Given the description of an element on the screen output the (x, y) to click on. 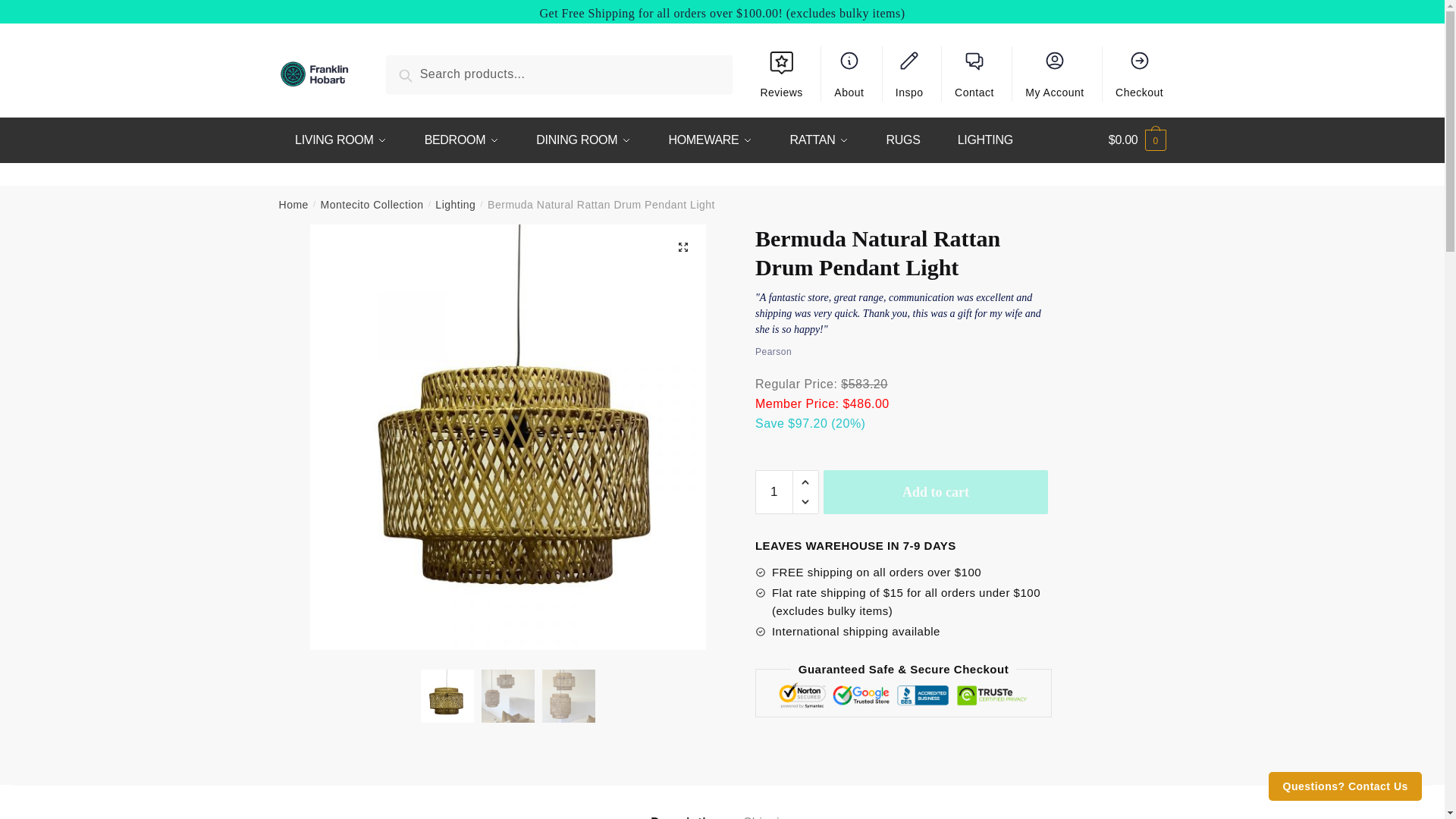
Reviews (781, 79)
HOMEWARE (710, 139)
DINING ROOM (583, 139)
LIVING ROOM (341, 139)
View your shopping cart (1137, 139)
BEDROOM (461, 139)
Search (424, 72)
Contact (973, 73)
Checkout (1139, 73)
My Account (1054, 73)
